Given the description of an element on the screen output the (x, y) to click on. 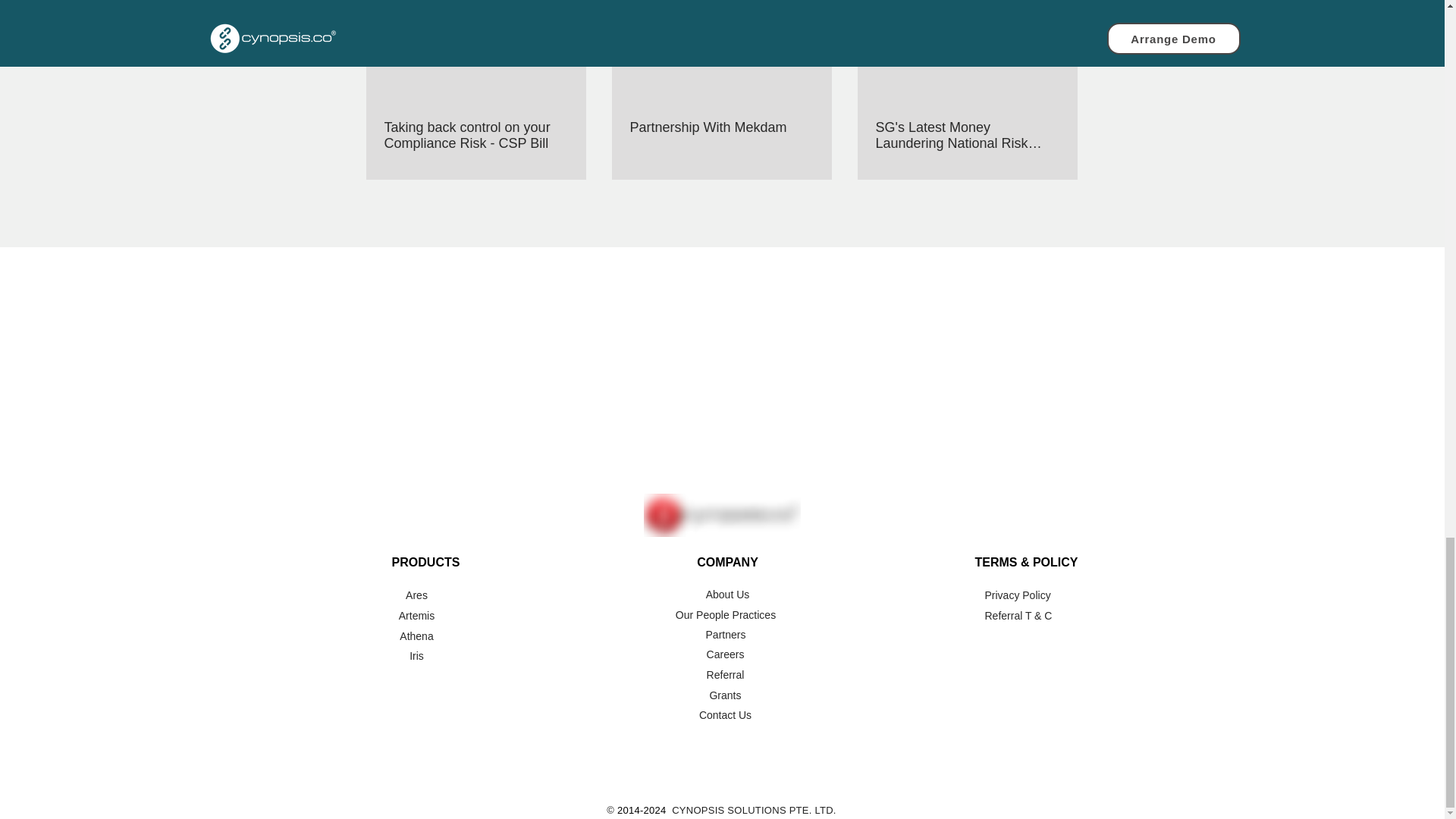
Artemis (416, 615)
Taking back control on your Compliance Risk - CSP Bill (475, 135)
SG's Latest Money Laundering National Risk Assessment (966, 135)
Athena (416, 635)
Partnership With Mekdam (720, 127)
Ares (416, 594)
PRODUCTS (425, 562)
